Given the description of an element on the screen output the (x, y) to click on. 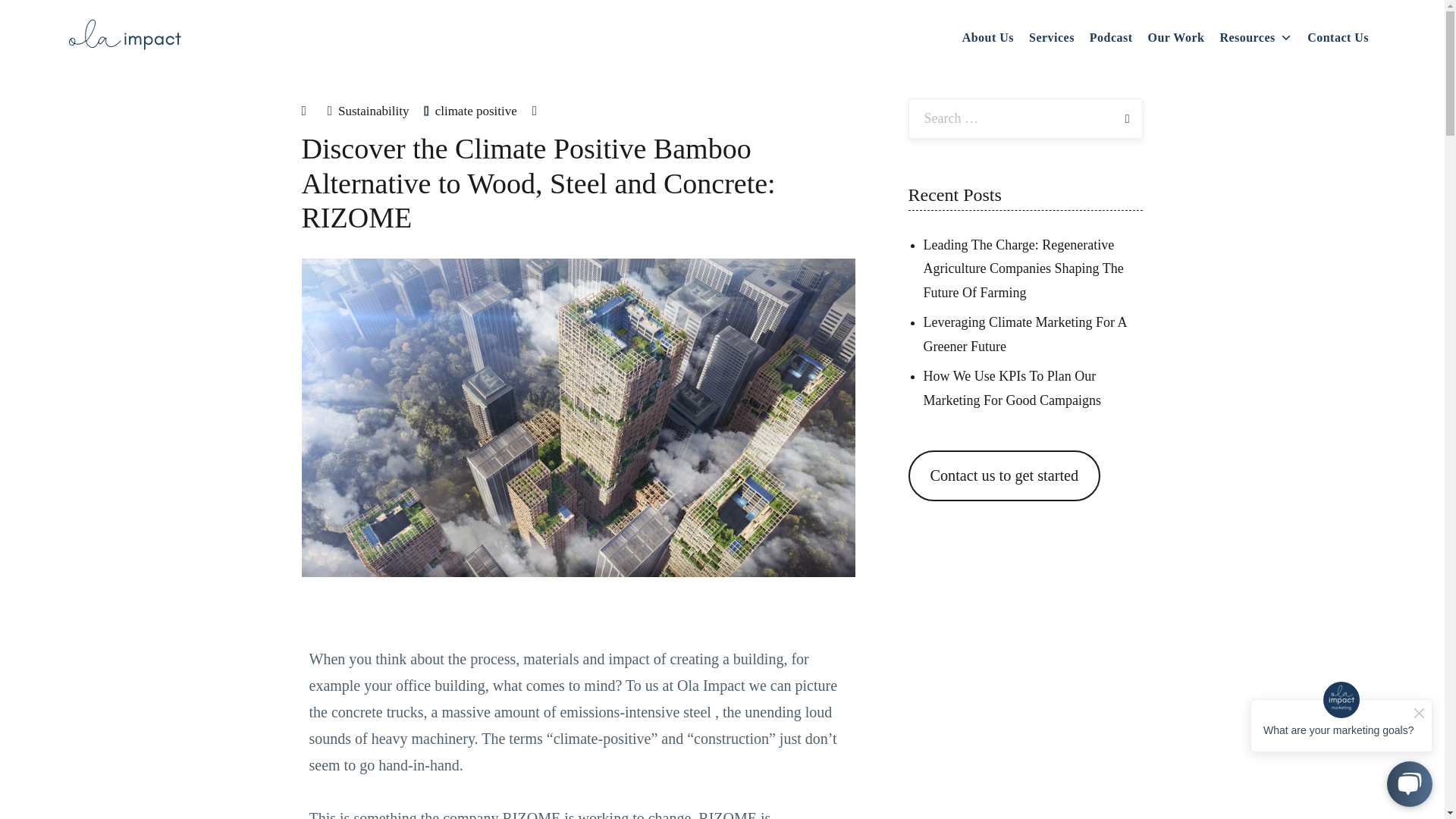
Sustainability (373, 110)
Contact Us (1337, 38)
How We Use KPIs To Plan Our Marketing For Good Campaigns (1011, 387)
Our Work (1176, 38)
Resources (1255, 38)
Contact us to get started (1004, 475)
Leveraging Climate Marketing For A Greener Future (1024, 333)
climate positive (475, 110)
